Given the description of an element on the screen output the (x, y) to click on. 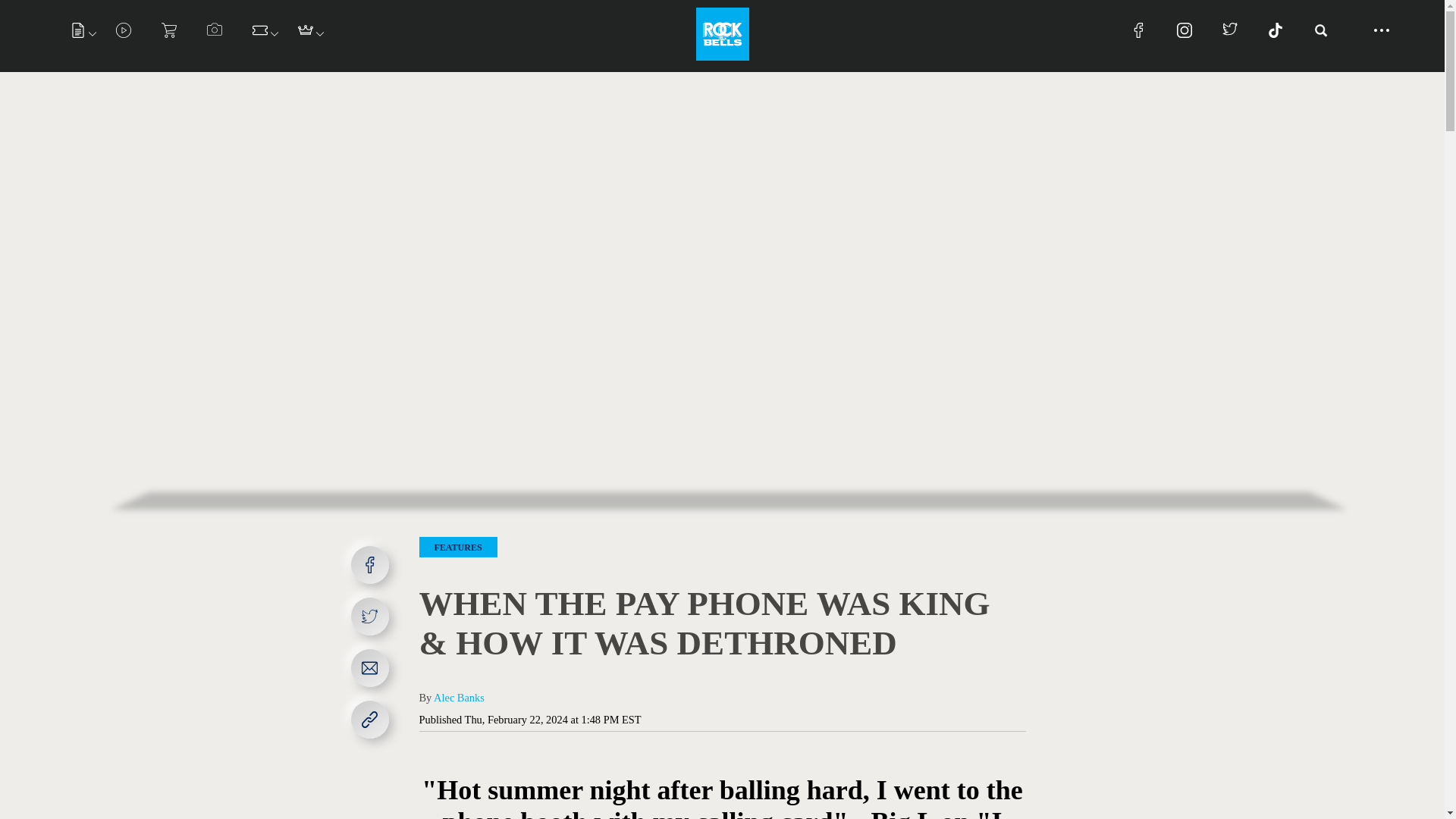
Alec Banks (458, 697)
